Given the description of an element on the screen output the (x, y) to click on. 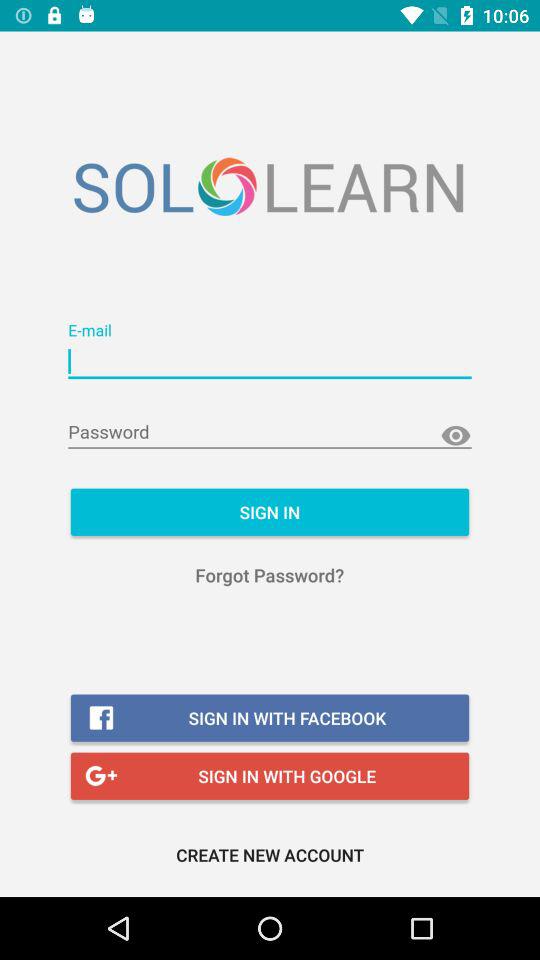
launch item below sign in with icon (269, 854)
